Given the description of an element on the screen output the (x, y) to click on. 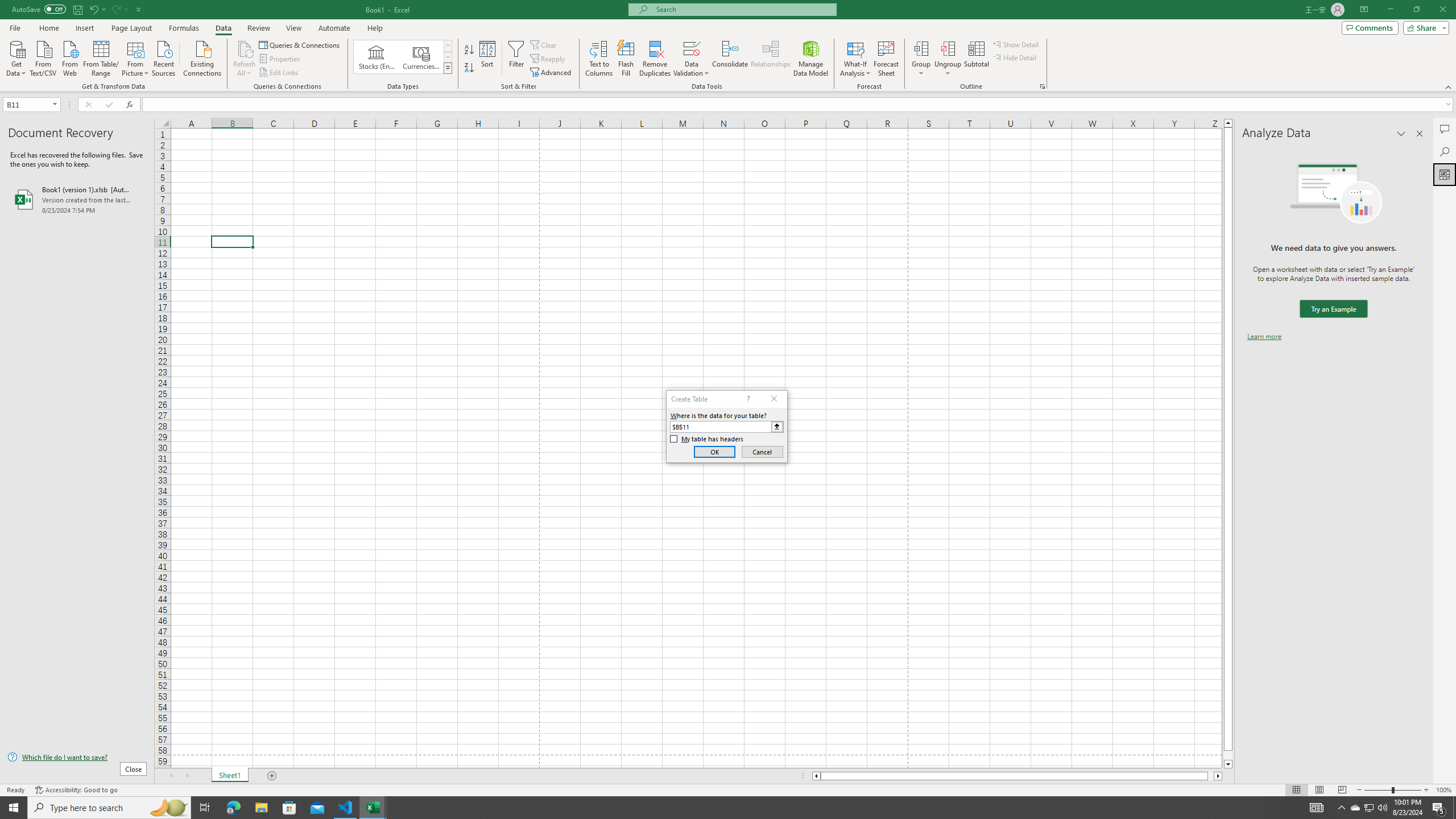
Line down (1228, 764)
Show Detail (1016, 44)
Row Down (448, 56)
Filter (515, 58)
Data Types (448, 67)
Recent Sources (163, 57)
Hide Detail (1014, 56)
Column right (1218, 775)
Ribbon Display Options (1364, 9)
Group... (921, 58)
What-If Analysis (855, 58)
Currencies (English) (420, 56)
Advanced... (551, 72)
